Given the description of an element on the screen output the (x, y) to click on. 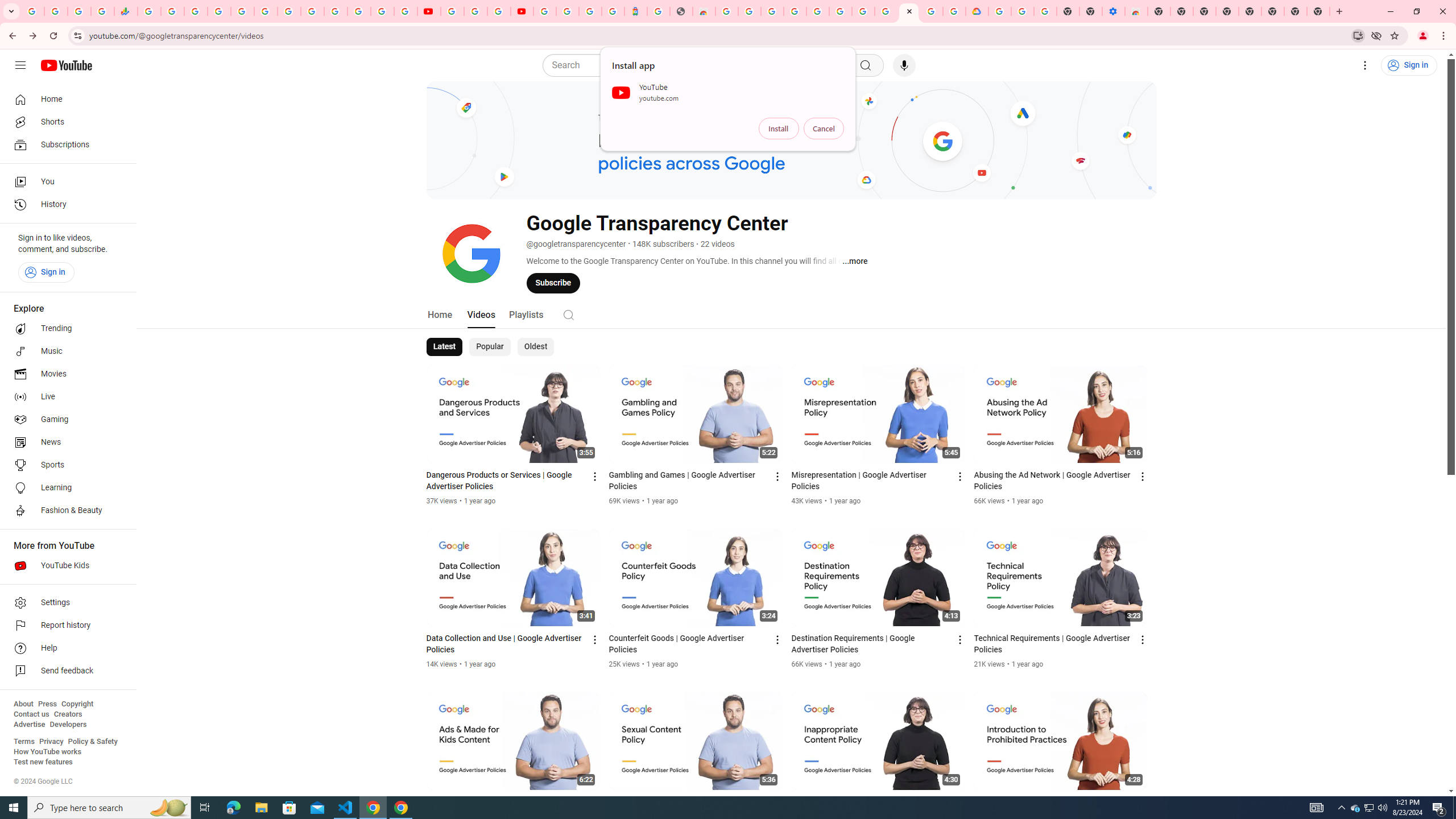
Movies (64, 373)
Popular (489, 346)
Gaming (64, 419)
Sign in - Google Accounts (817, 11)
Creators (67, 714)
Report history (64, 625)
Settings - Accessibility (1113, 11)
Create your Google Account (931, 11)
Search with your voice (903, 65)
